Given the description of an element on the screen output the (x, y) to click on. 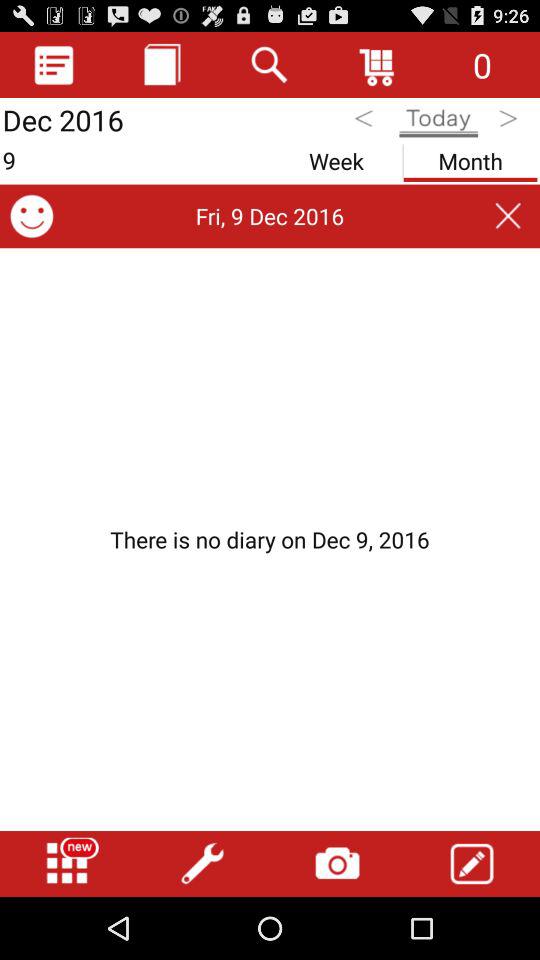
open diary (53, 64)
